Given the description of an element on the screen output the (x, y) to click on. 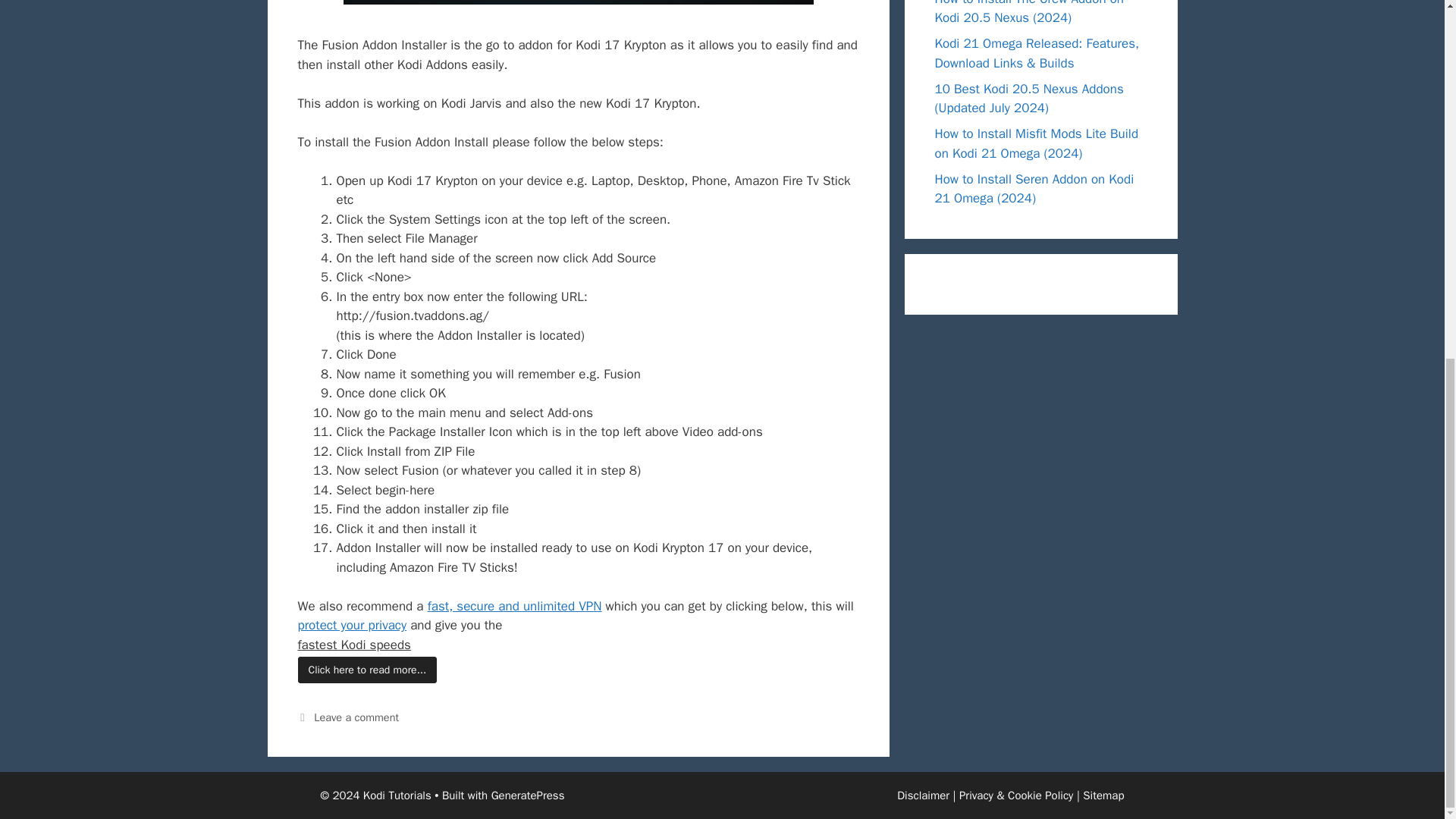
Disclaimer (922, 795)
Click here to read more... (366, 669)
Sitemap (1103, 795)
Leave a comment (356, 716)
GeneratePress (528, 795)
protect your privacy (351, 625)
fast, secure and unlimited VPN (515, 606)
